Given the description of an element on the screen output the (x, y) to click on. 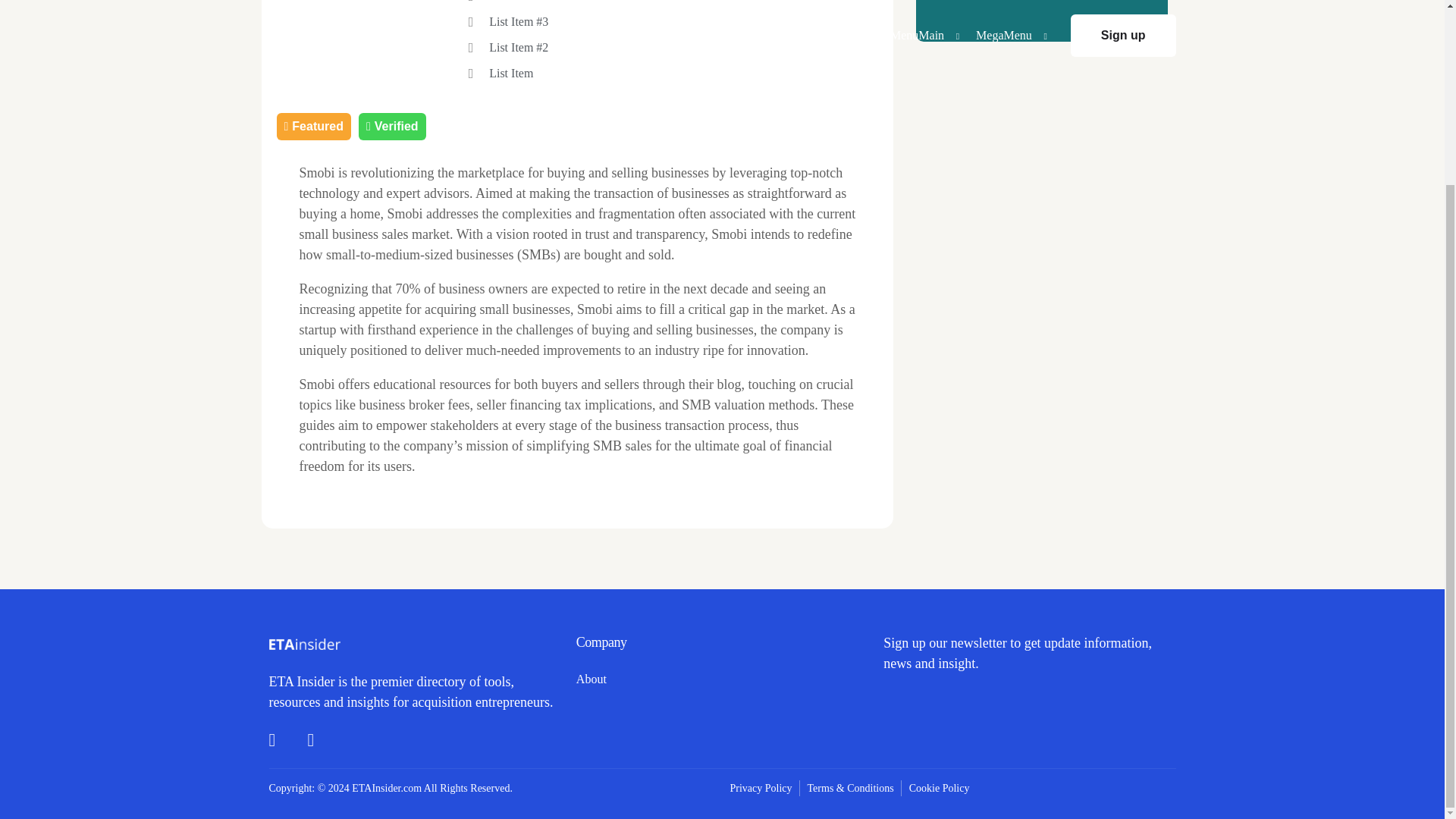
Verified (392, 126)
About (721, 679)
Featured (313, 126)
Cookie Policy (938, 788)
Privacy Policy (760, 788)
